Given the description of an element on the screen output the (x, y) to click on. 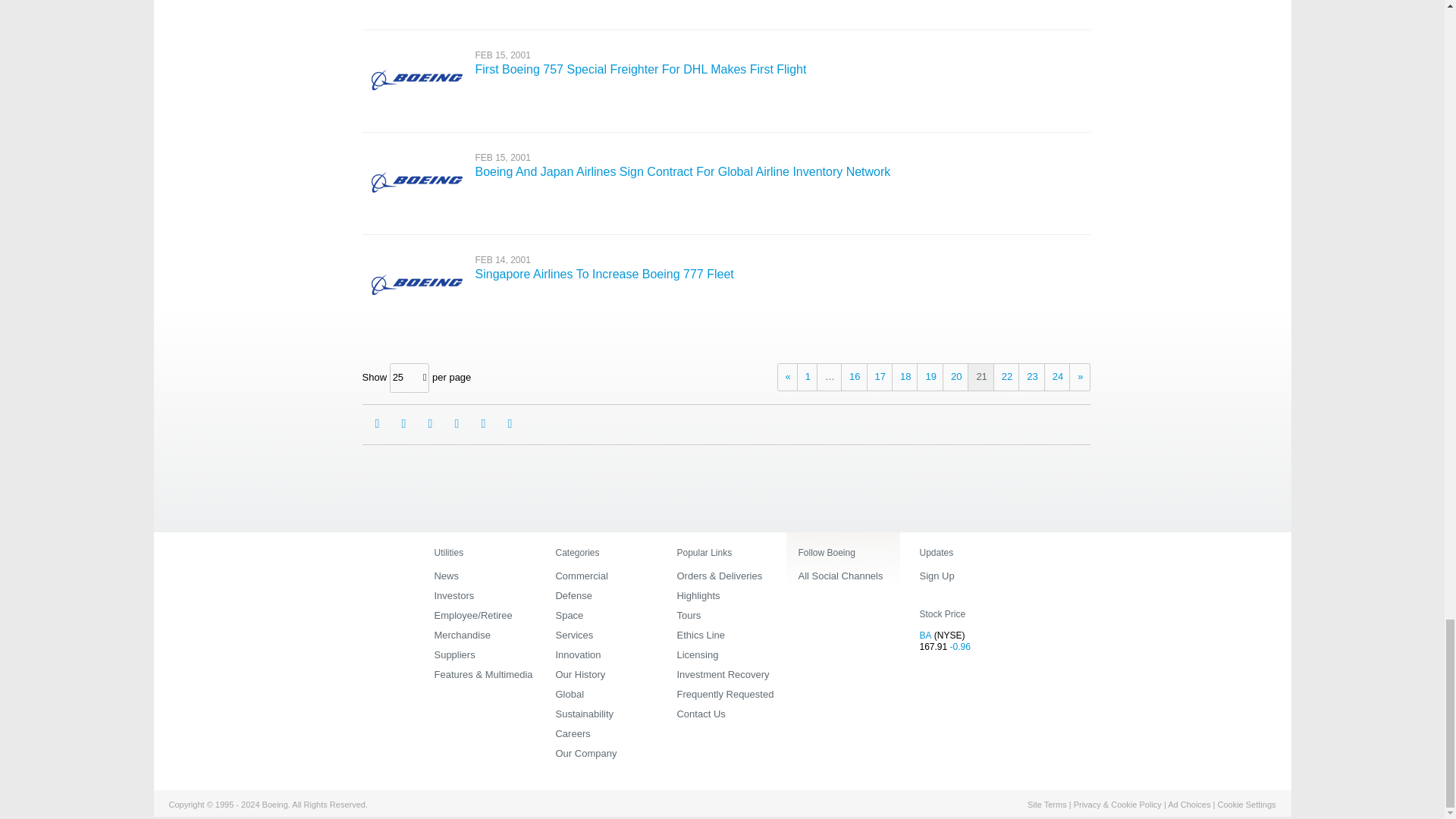
Select number of items per page (409, 377)
Twitter Share (456, 423)
email (376, 423)
Facebook Share (403, 423)
print (483, 423)
rss (510, 423)
Linkedin Share (430, 423)
